Given the description of an element on the screen output the (x, y) to click on. 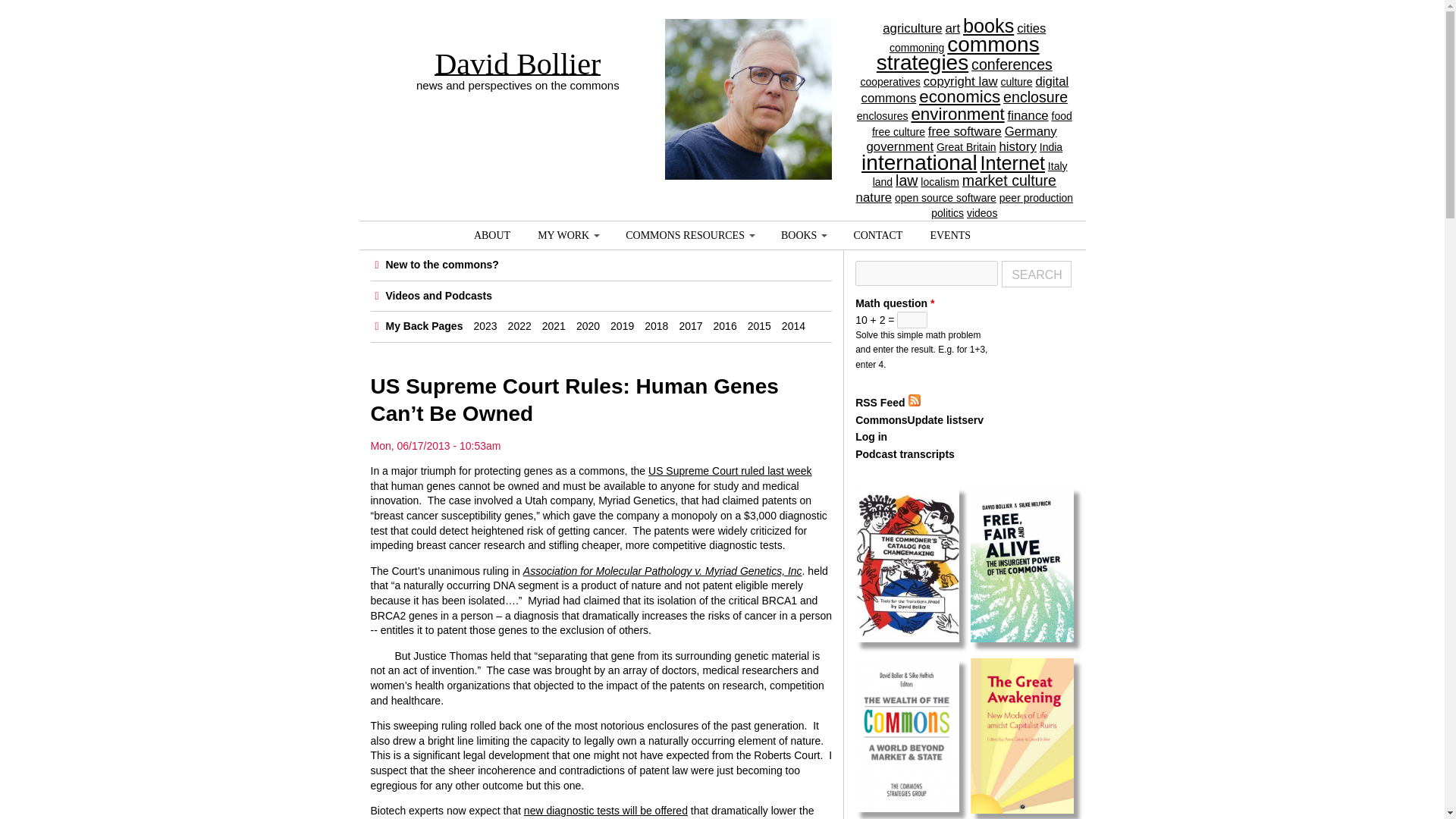
India (1050, 146)
nature (874, 197)
open source software (945, 197)
food (1061, 115)
Search (1036, 274)
books (987, 25)
conferences (1011, 64)
Germany (1030, 131)
Italy (1057, 165)
